Given the description of an element on the screen output the (x, y) to click on. 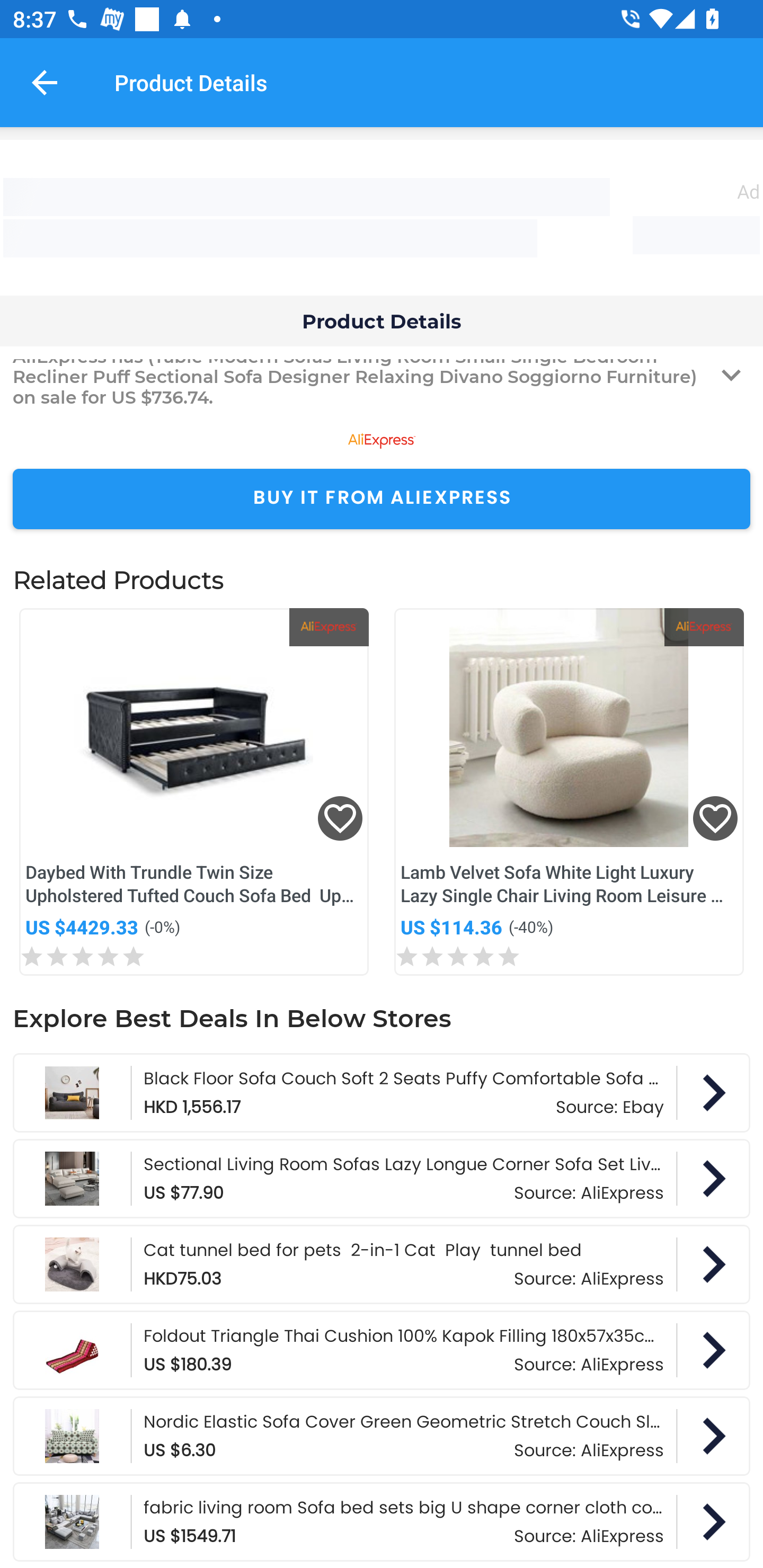
Navigate up (44, 82)
BUY IT FROM ALIEXPRESS (381, 499)
